Given the description of an element on the screen output the (x, y) to click on. 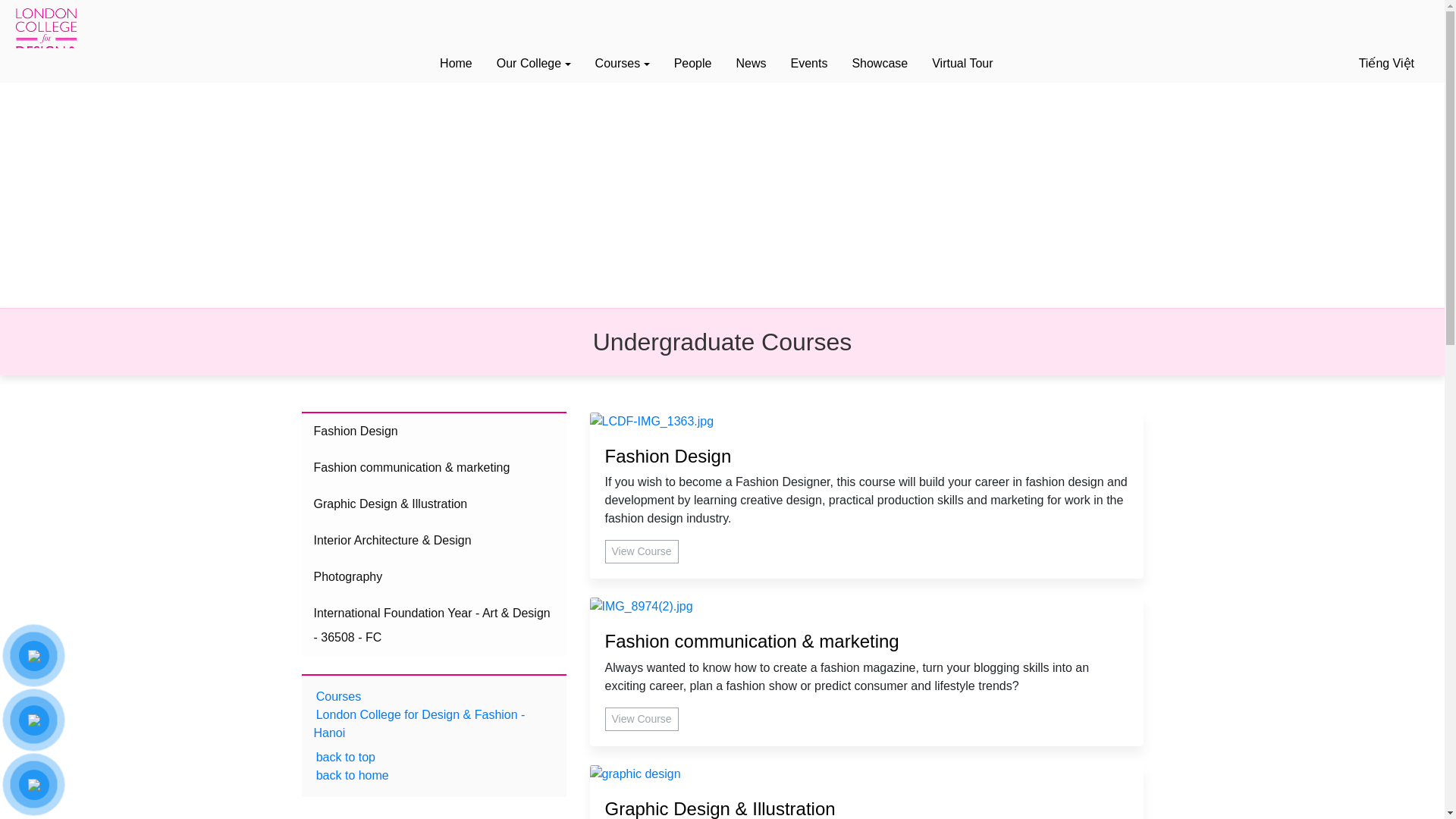
View Course (641, 551)
News (750, 60)
Virtual Tour (962, 60)
Fashion Design (866, 456)
Events (808, 60)
Our College (533, 60)
Showcase (879, 60)
Courses (622, 60)
Home (456, 60)
View Course (641, 719)
